Given the description of an element on the screen output the (x, y) to click on. 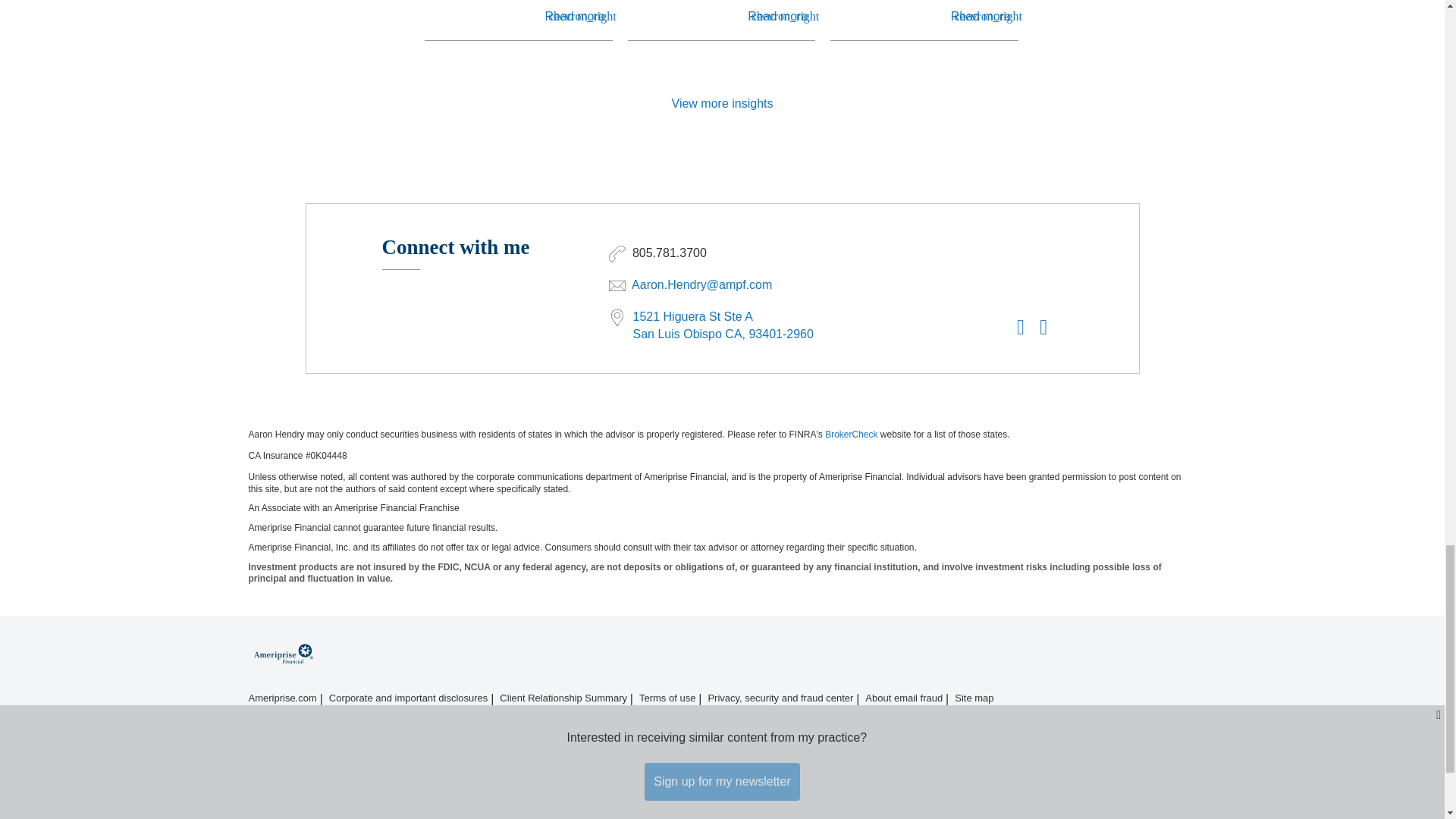
View more insights (721, 102)
Read more (574, 16)
Read more (980, 16)
Read more (778, 16)
